Given the description of an element on the screen output the (x, y) to click on. 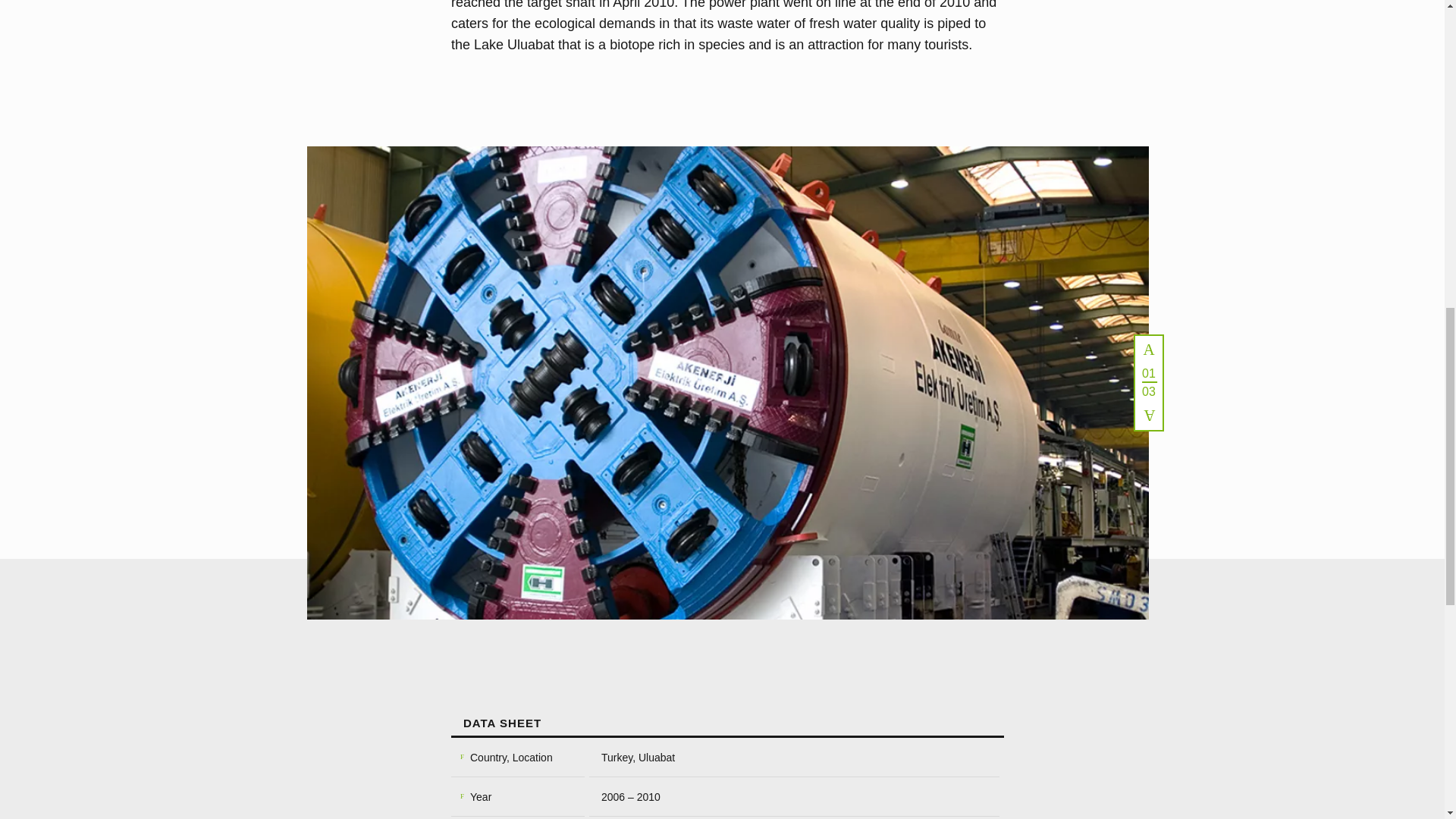
To top (1134, 19)
